Given the description of an element on the screen output the (x, y) to click on. 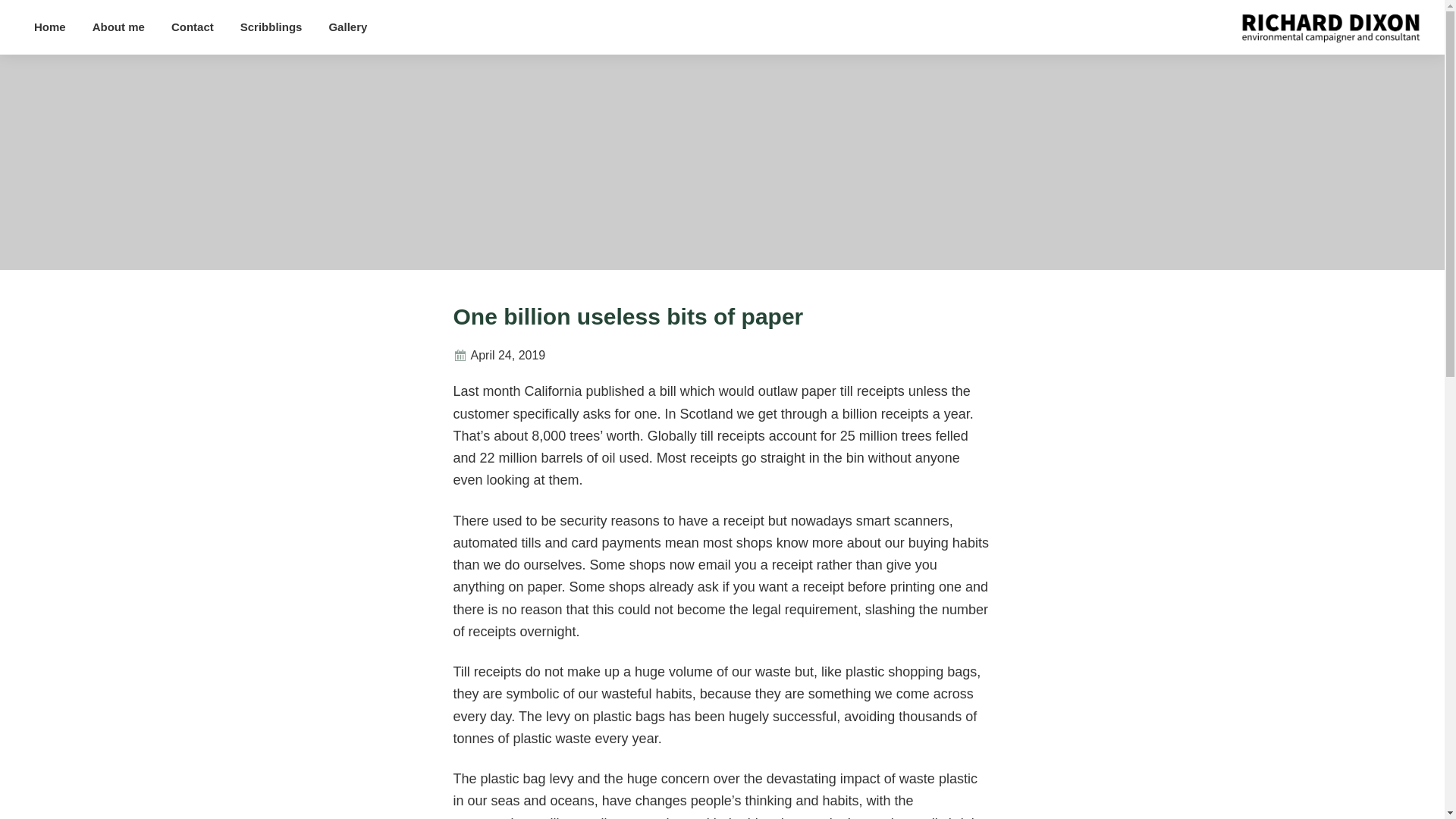
Gallery (347, 27)
Scribblings (271, 27)
Home (50, 27)
About me (118, 27)
Contact (192, 27)
